Given the description of an element on the screen output the (x, y) to click on. 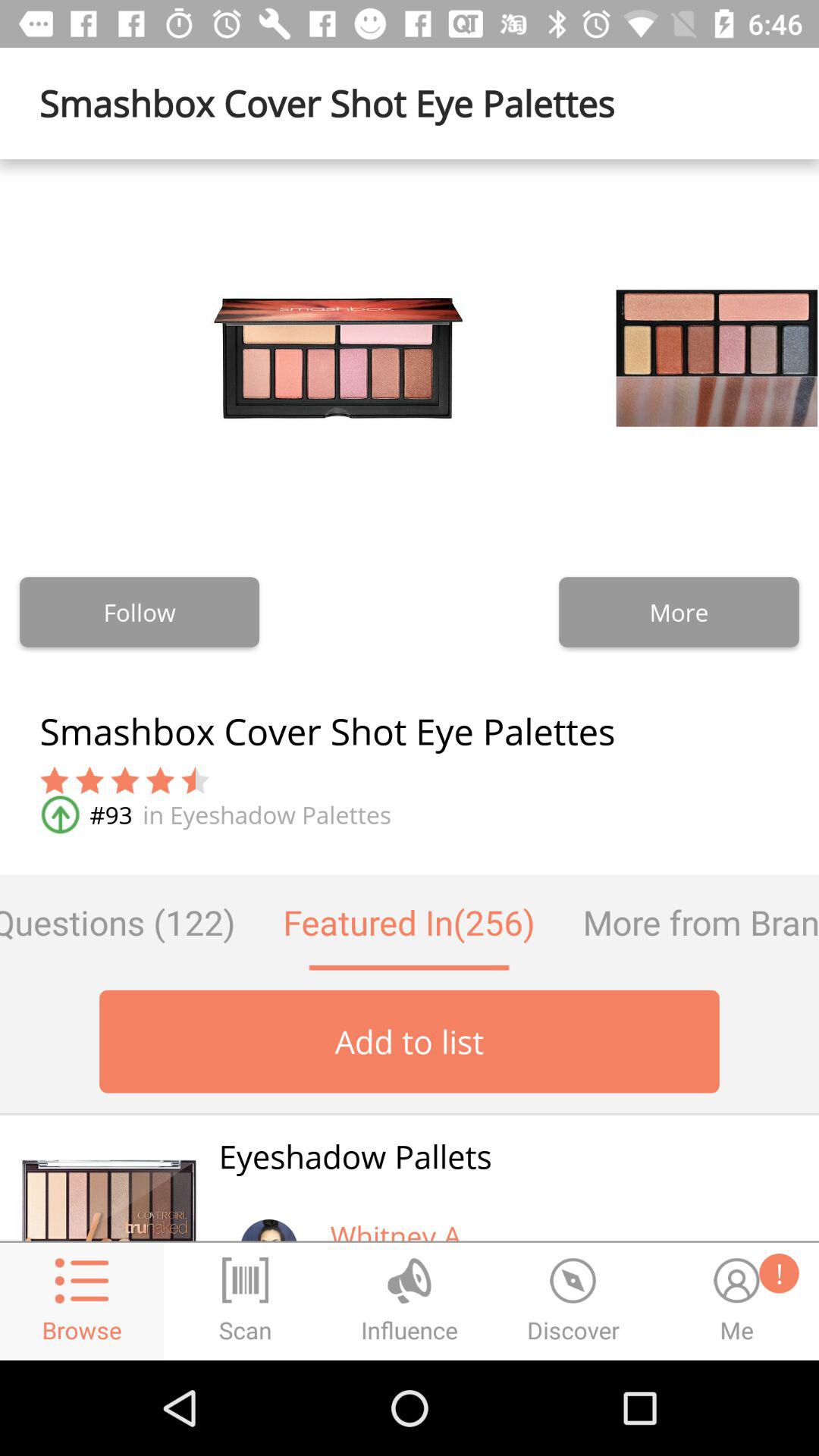
turn on item to the right of the featured in(256) icon (689, 922)
